Given the description of an element on the screen output the (x, y) to click on. 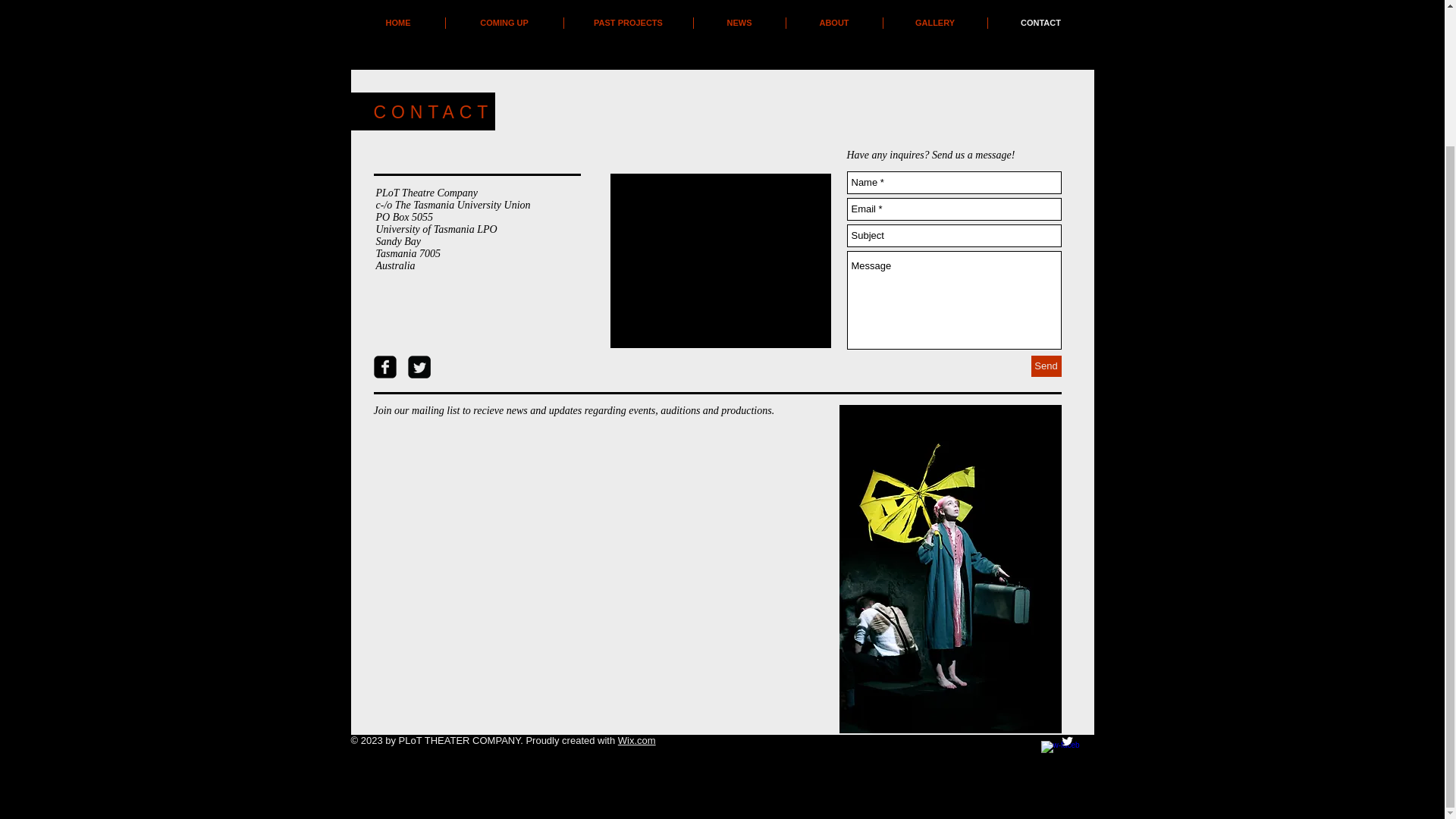
NEWS (738, 22)
COMING UP (504, 22)
CONTACT (1040, 22)
Send (1045, 365)
ABOUT (834, 22)
Wix.com (636, 740)
GALLERY (934, 22)
HOME (398, 22)
PAST PROJECTS (628, 22)
